Given the description of an element on the screen output the (x, y) to click on. 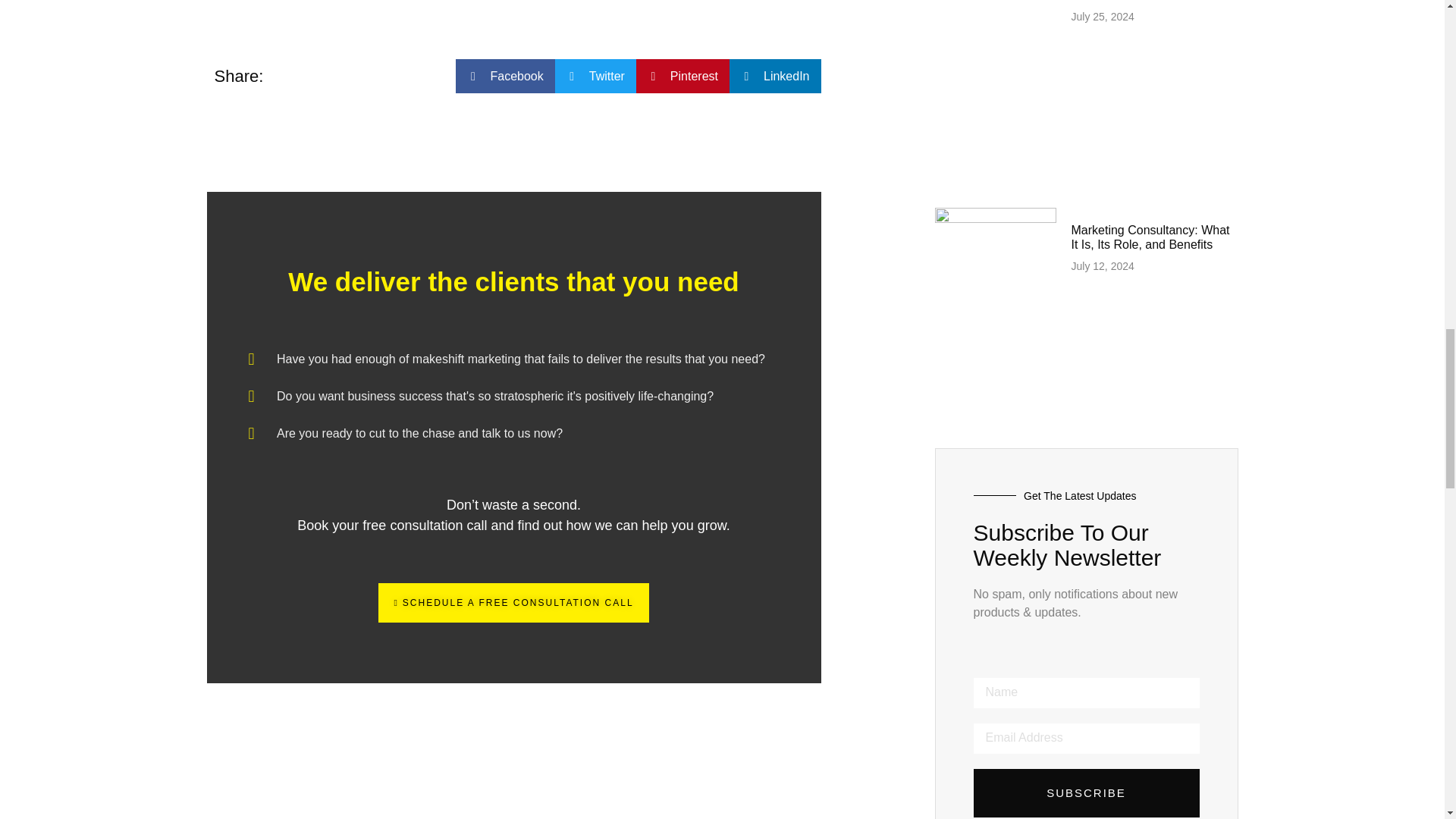
SCHEDULE A FREE CONSULTATION CALL (512, 602)
Marketing Consultancy: What It Is, Its Role, and Benefits (1149, 236)
